Given the description of an element on the screen output the (x, y) to click on. 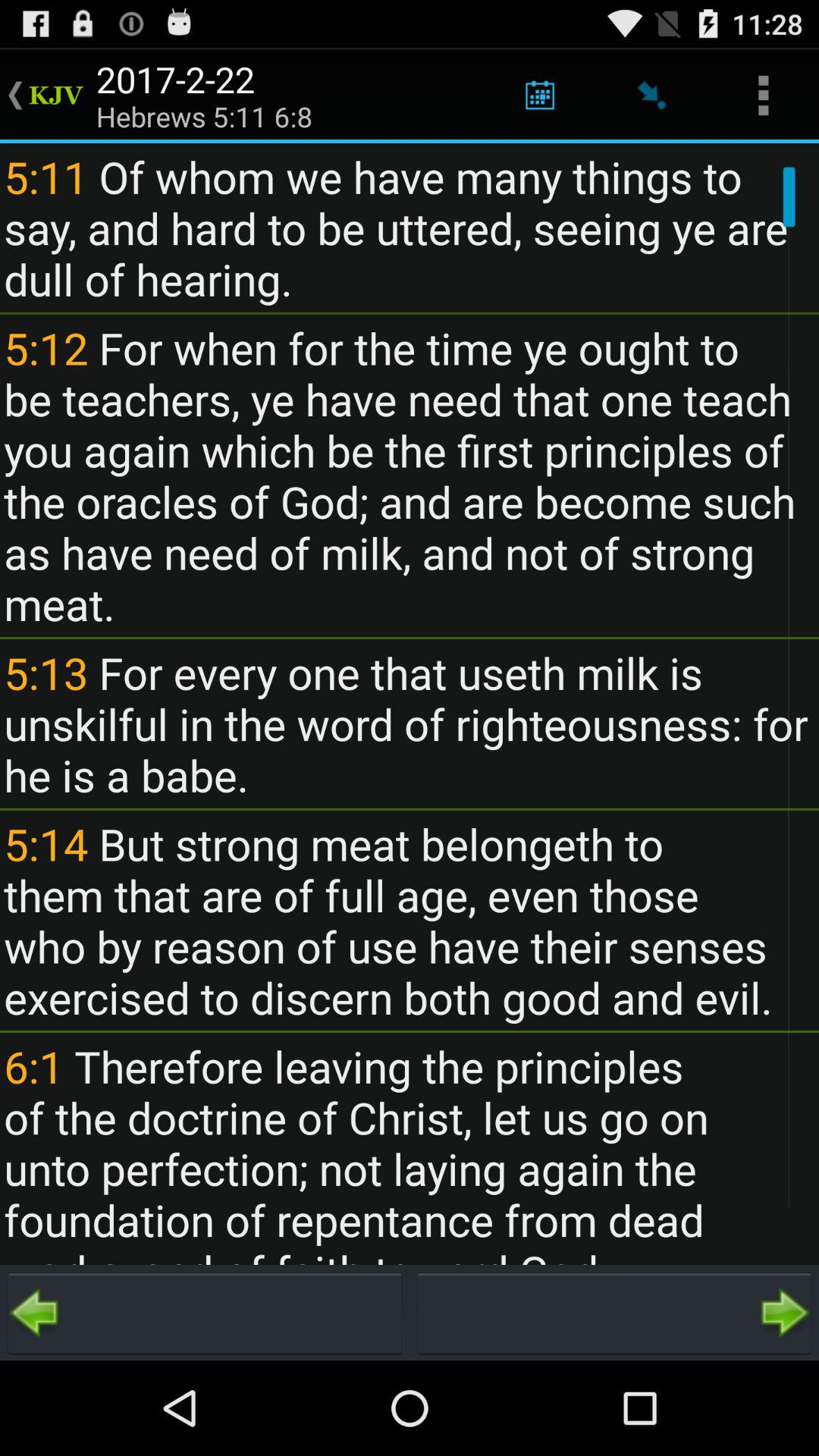
next page (614, 1312)
